Given the description of an element on the screen output the (x, y) to click on. 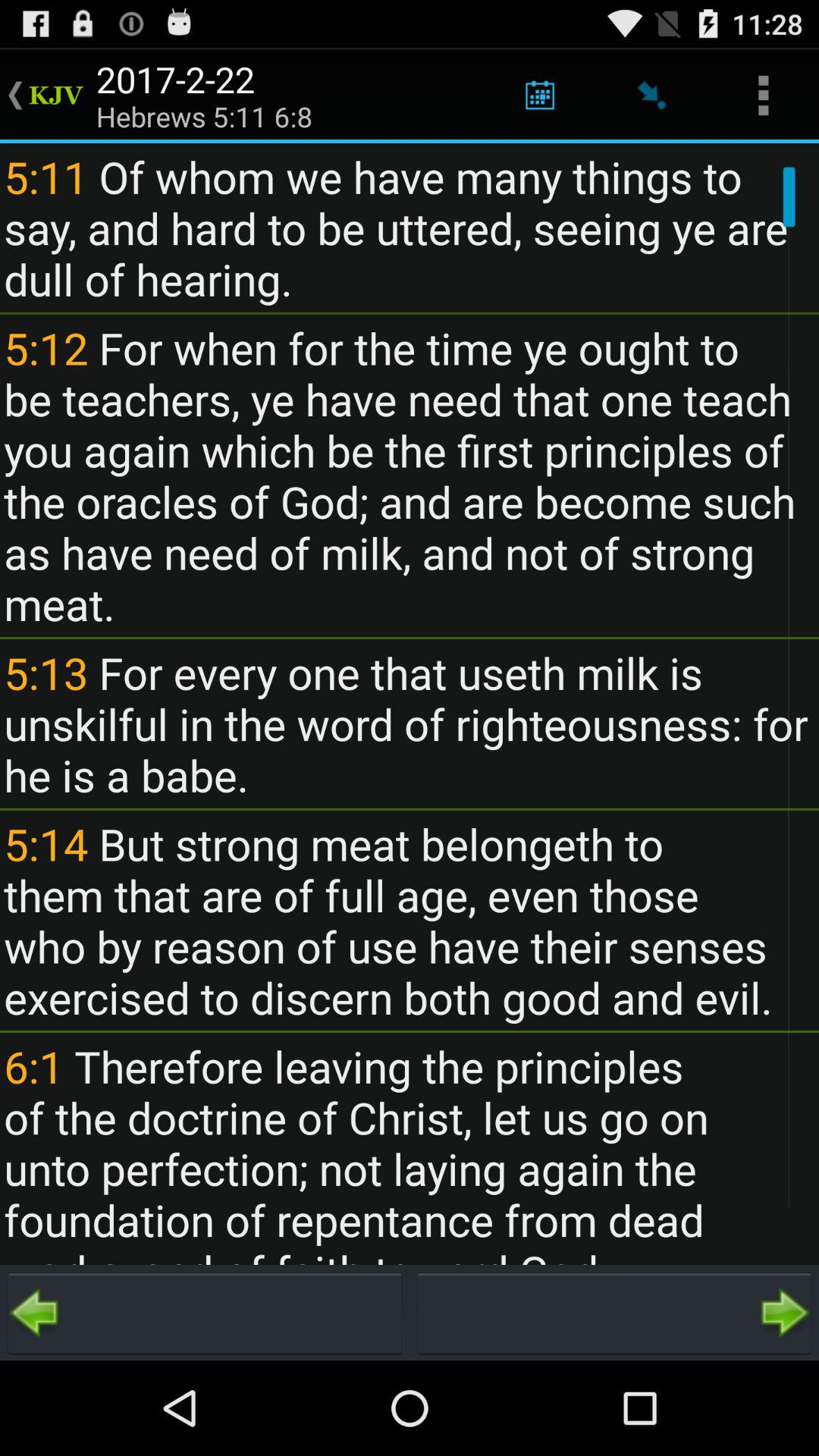
next page (614, 1312)
